Given the description of an element on the screen output the (x, y) to click on. 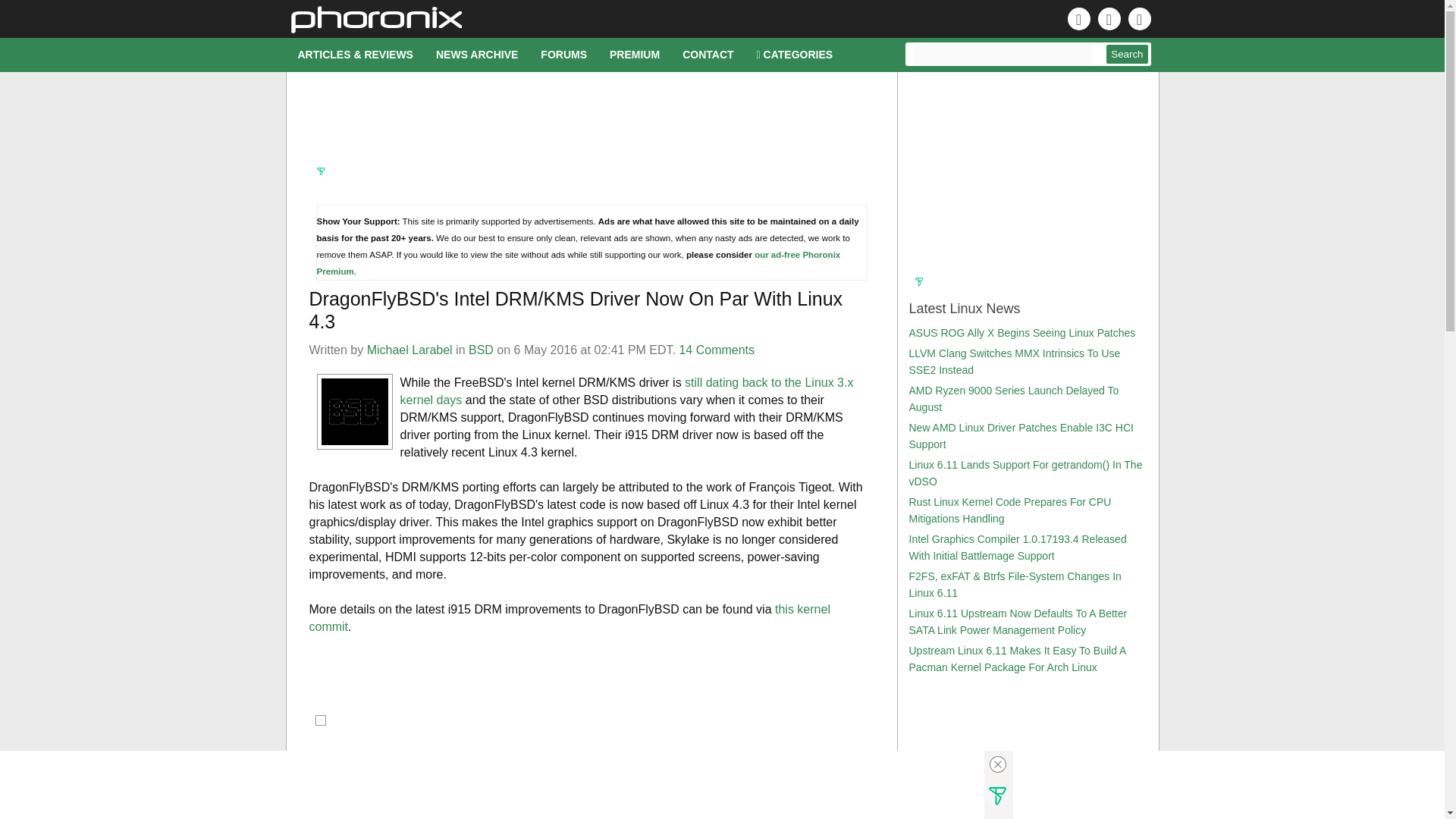
still dating back to the Linux 3.x kernel days (626, 390)
3rd party ad content (591, 680)
CONTACT (707, 54)
PREMIUM (634, 54)
this kernel commit (568, 617)
Michael Larabel (409, 349)
3rd party ad content (708, 785)
our ad-free Phoronix Premium (579, 263)
NEWS ARCHIVE (477, 54)
14 Comments (716, 349)
14 Comments (346, 757)
BSD (480, 349)
3rd party ad content (1026, 177)
3rd party ad content (591, 128)
Search (1126, 54)
